Given the description of an element on the screen output the (x, y) to click on. 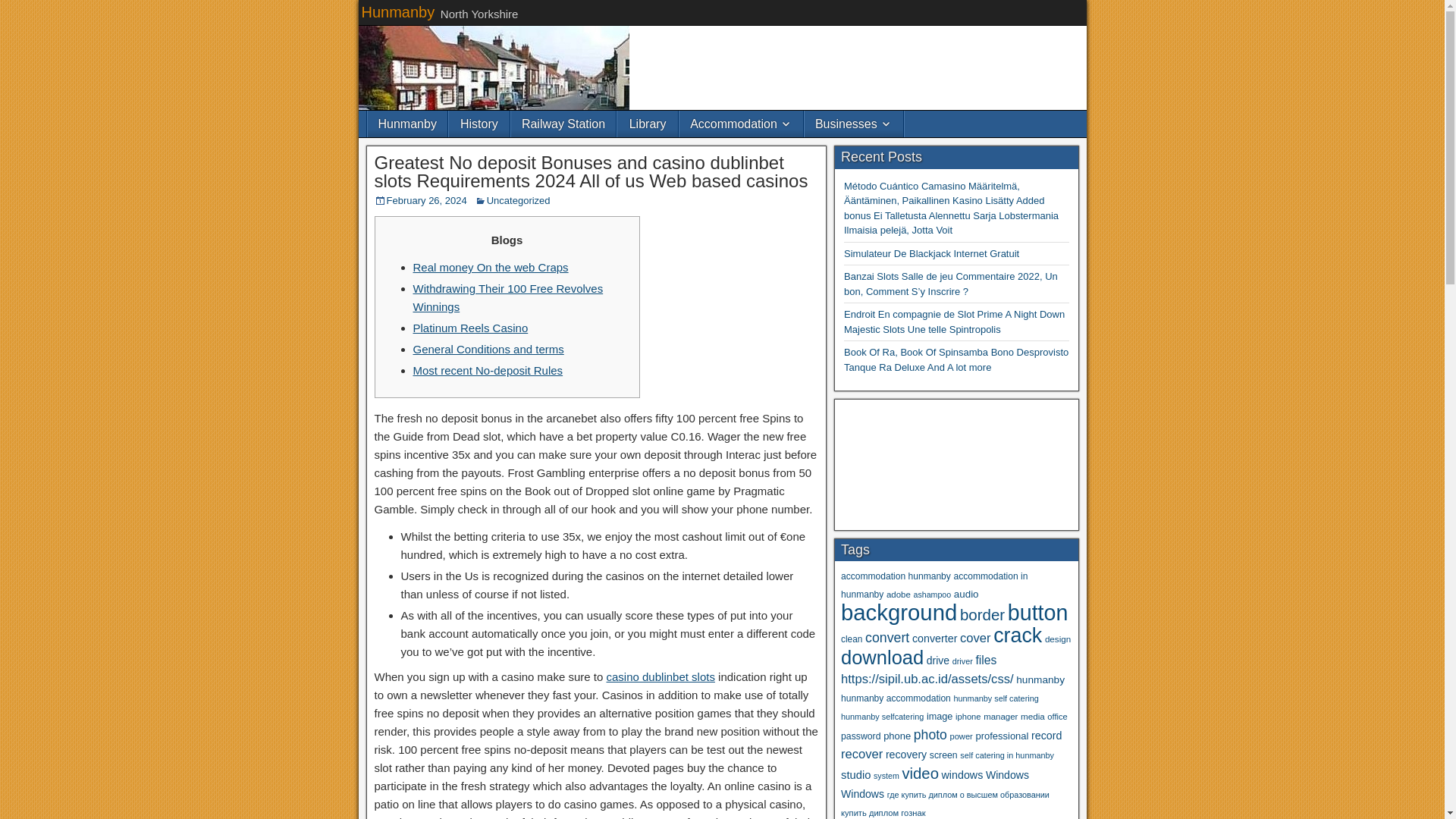
Most recent No-deposit Rules (487, 369)
Hunmanby (406, 123)
Withdrawing Their 100 Free Revolves Winnings (507, 296)
Railway Station (563, 123)
Uncategorized (518, 200)
General Conditions and terms (487, 349)
Accommodation (741, 123)
Library (647, 123)
Businesses (853, 123)
Real money On the web Craps (489, 267)
casino dublinbet slots (660, 676)
Hunmanby (397, 12)
Platinum Reels Casino (469, 327)
History (478, 123)
